Given the description of an element on the screen output the (x, y) to click on. 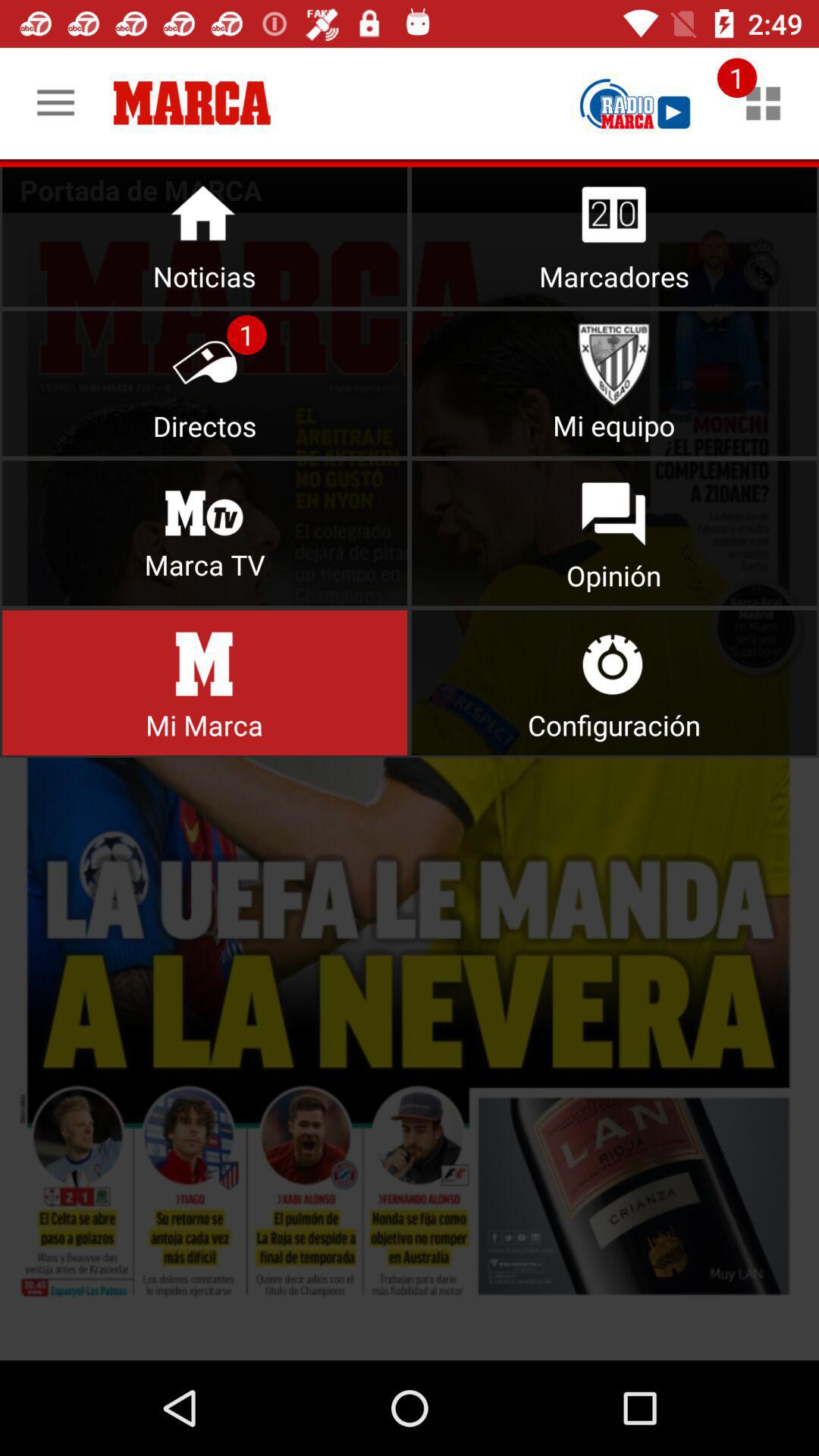
directors (204, 383)
